Given the description of an element on the screen output the (x, y) to click on. 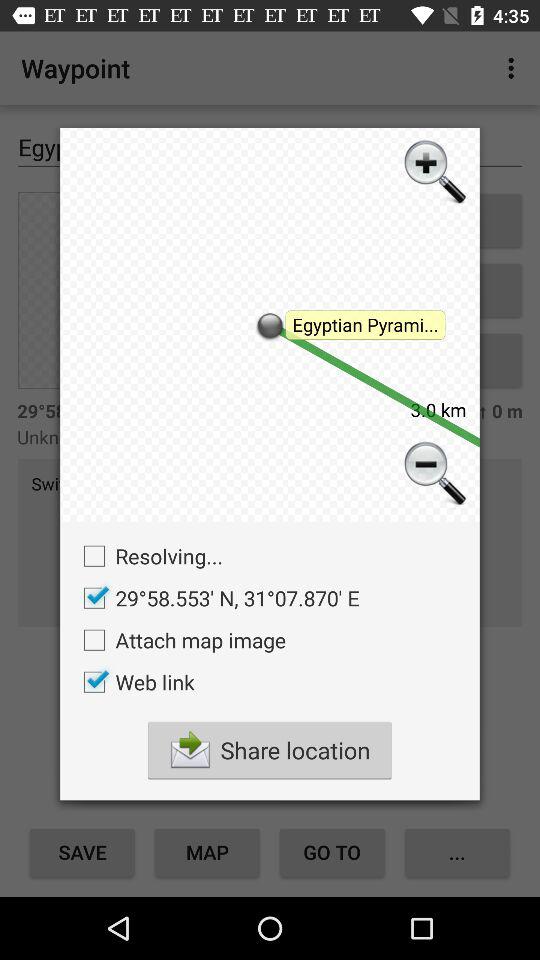
tap the 29 58 553 item (216, 598)
